Given the description of an element on the screen output the (x, y) to click on. 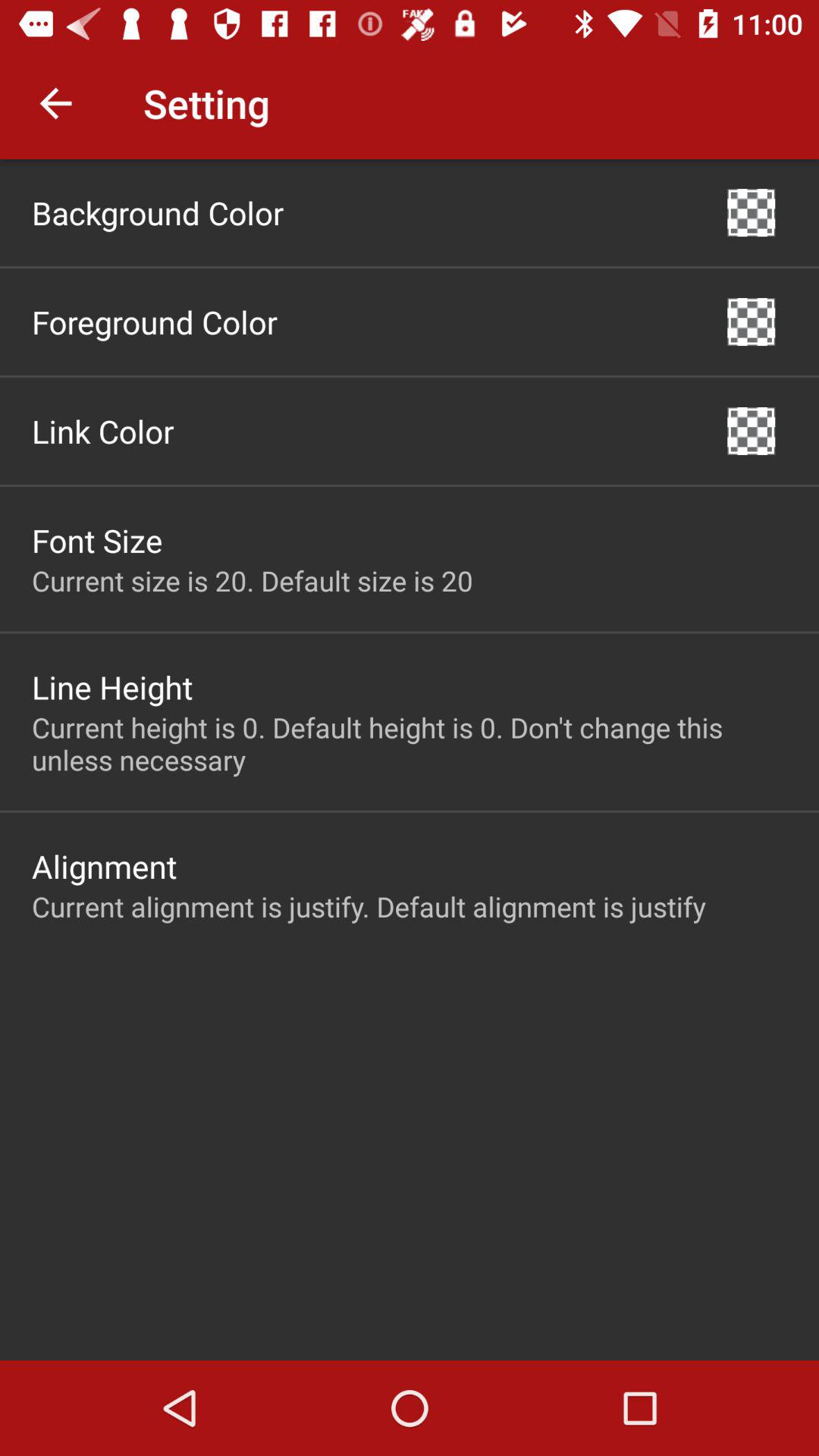
press the item next to background color item (751, 212)
